Given the description of an element on the screen output the (x, y) to click on. 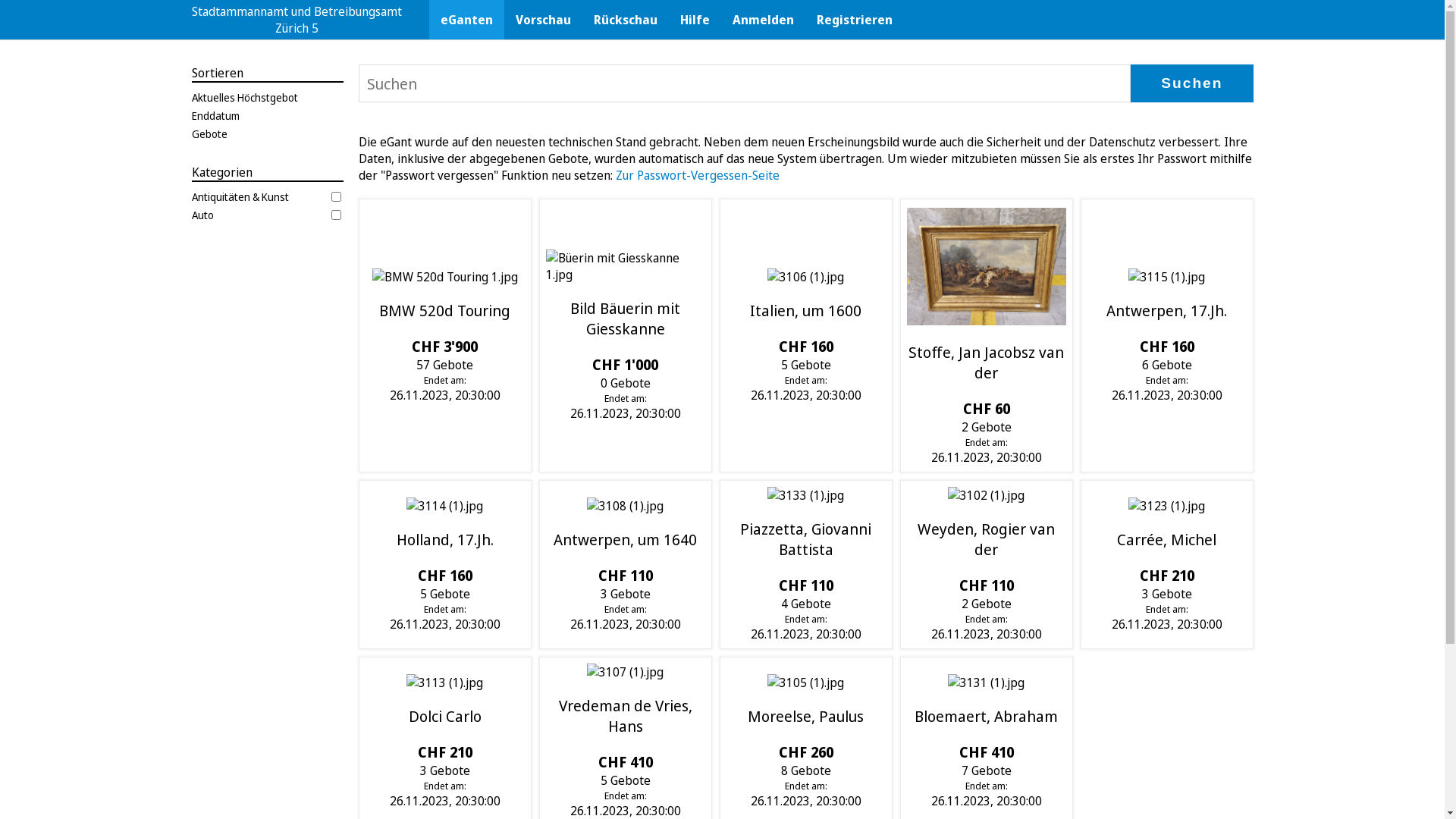
Anmelden Element type: text (762, 19)
Gebote Element type: text (266, 133)
Enddatum Element type: text (266, 115)
Auto Element type: text (266, 214)
Vorschau Element type: text (542, 19)
Registrieren Element type: text (854, 19)
Zur Passwort-Vergessen-Seite Element type: text (697, 174)
Suchen Element type: text (1191, 83)
Hilfe Element type: text (694, 19)
eGanten Element type: text (466, 19)
